Given the description of an element on the screen output the (x, y) to click on. 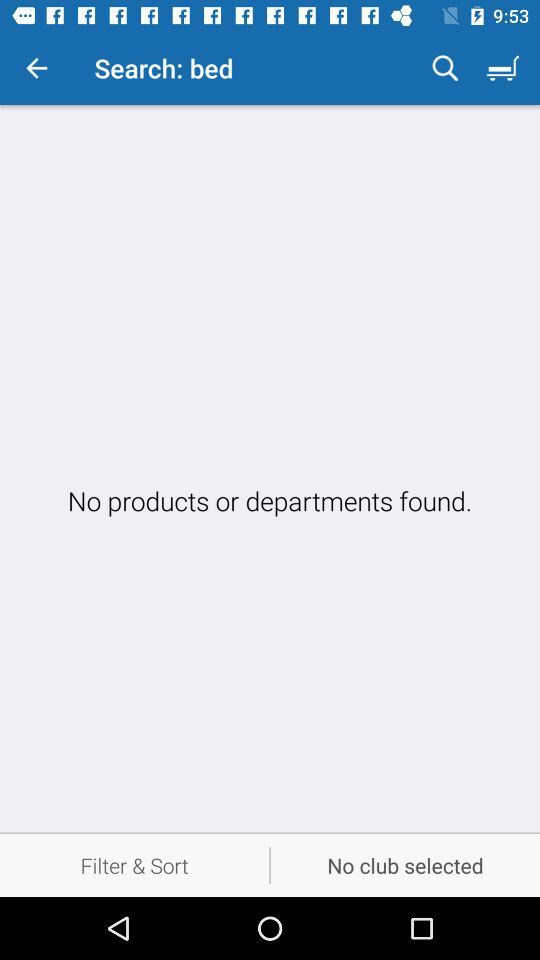
tap icon to the right of the search: bed icon (445, 68)
